Given the description of an element on the screen output the (x, y) to click on. 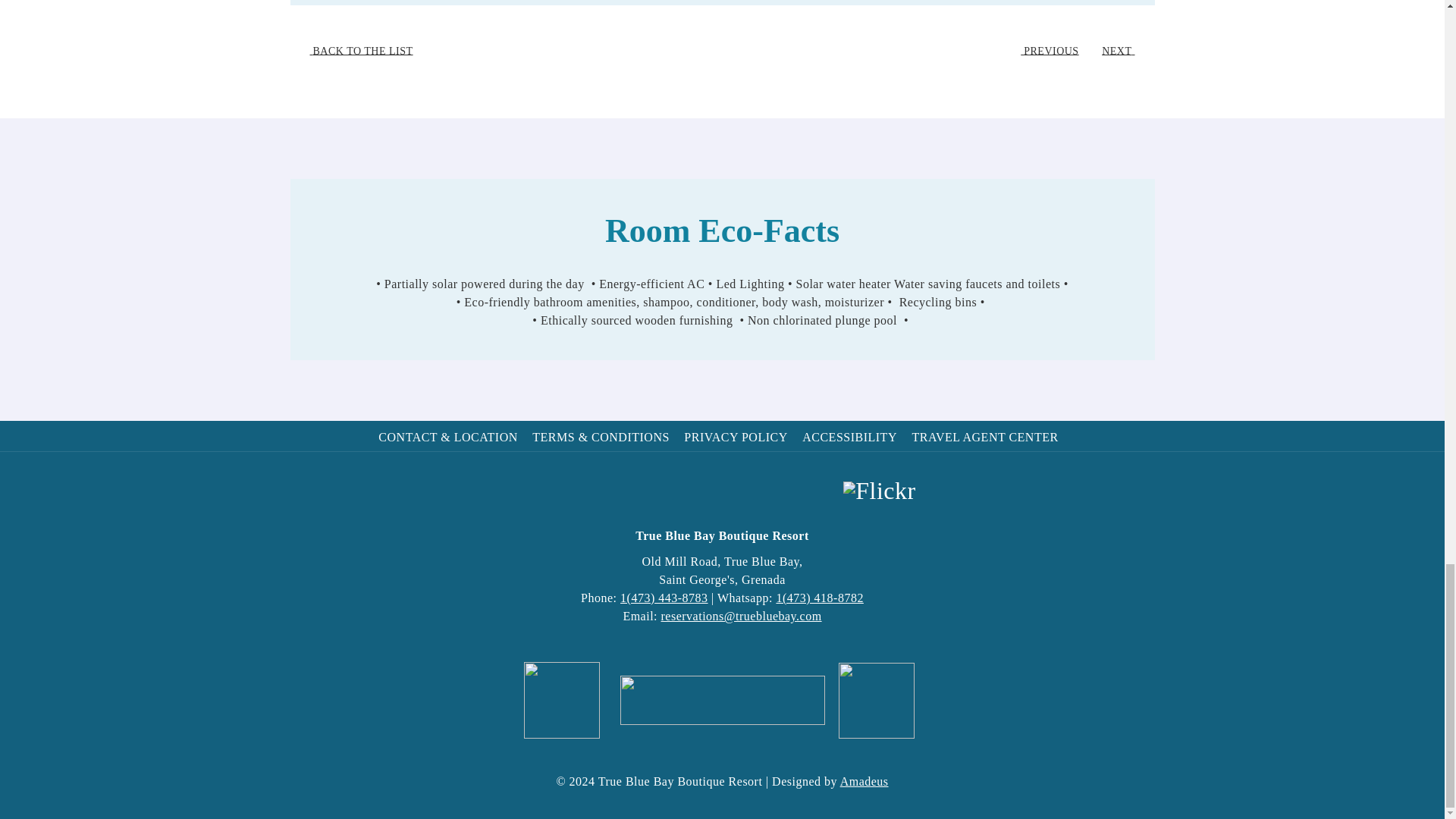
PRIVACY POLICY (737, 436)
BACK TO THE LIST (355, 51)
NEXT (1123, 51)
TRAVEL AGENT CENTER (986, 436)
Amadeus (864, 780)
PREVIOUS (1044, 51)
ACCESSIBILITY (851, 436)
